Given the description of an element on the screen output the (x, y) to click on. 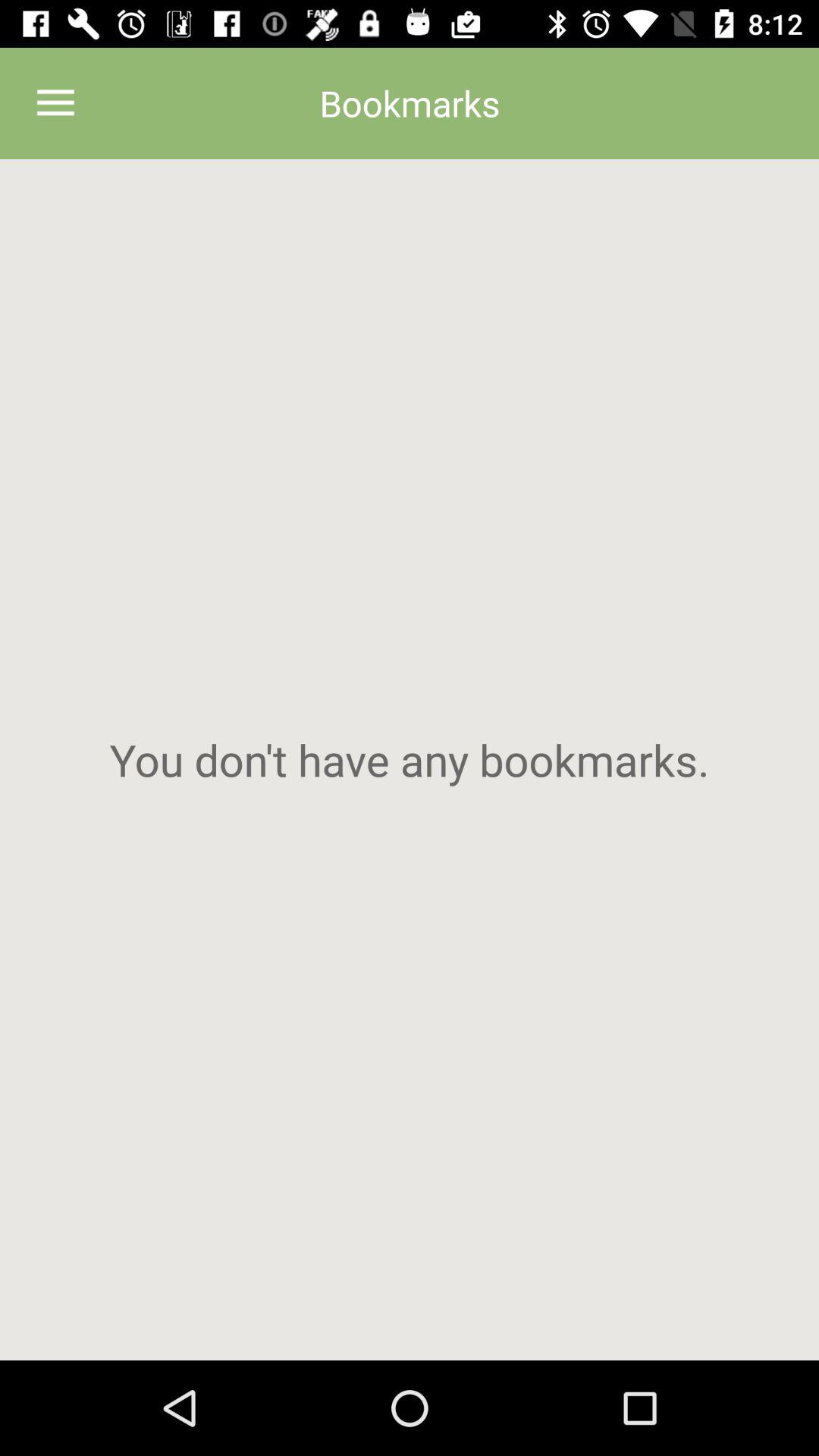
press item above you don t icon (55, 103)
